Given the description of an element on the screen output the (x, y) to click on. 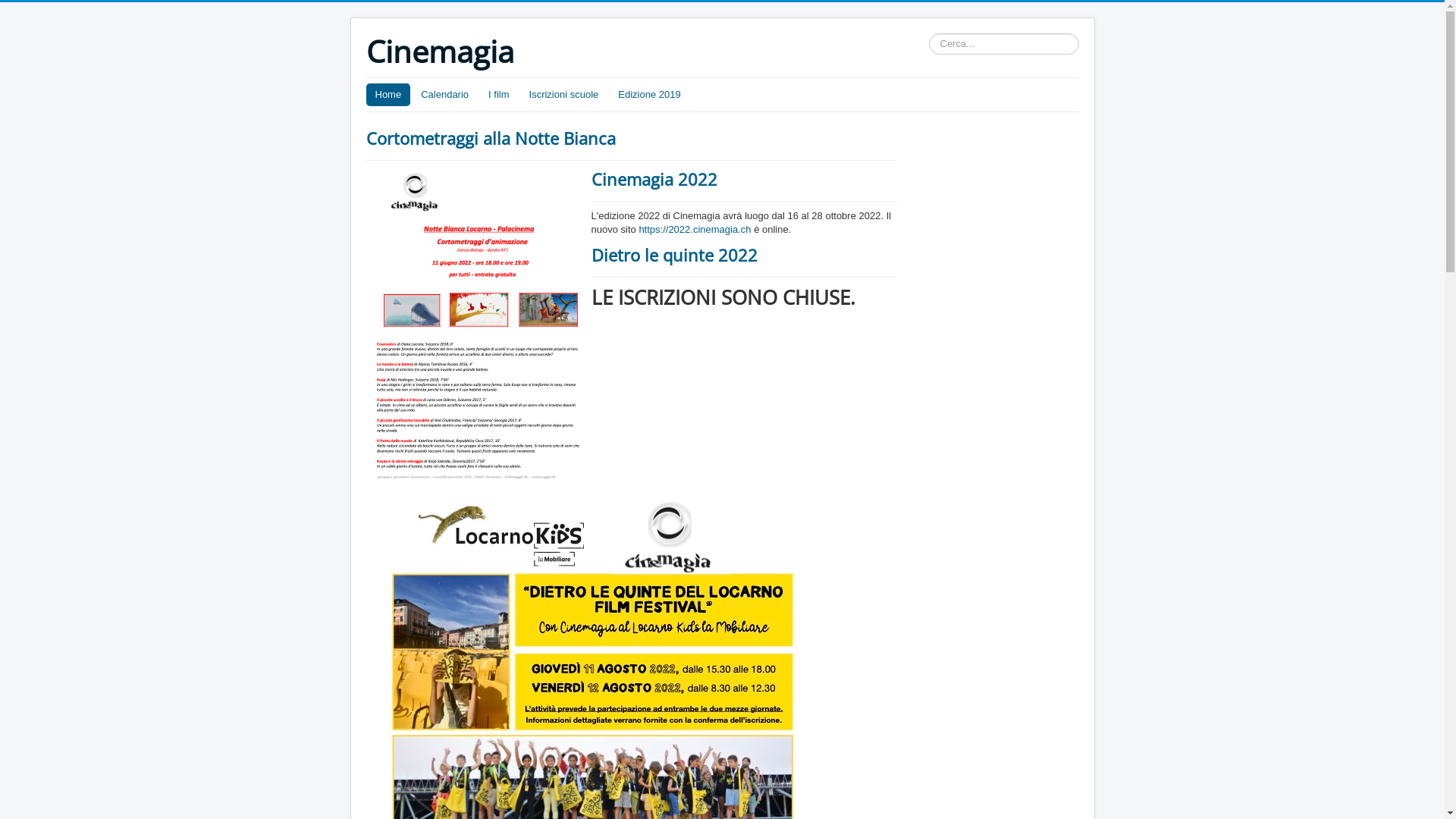
Cinemagia Element type: text (439, 51)
Dietro le quinte 2022 Element type: text (674, 254)
https://2022.cinemagia.ch Element type: text (694, 229)
Iscrizioni scuole Element type: text (564, 94)
Edizione 2019 Element type: text (648, 94)
Calendario Element type: text (444, 94)
Cinemagia 2022 Element type: text (654, 178)
I film Element type: text (498, 94)
Home Element type: text (387, 94)
Cortometraggi alla Notte Bianca Element type: text (490, 137)
